Given the description of an element on the screen output the (x, y) to click on. 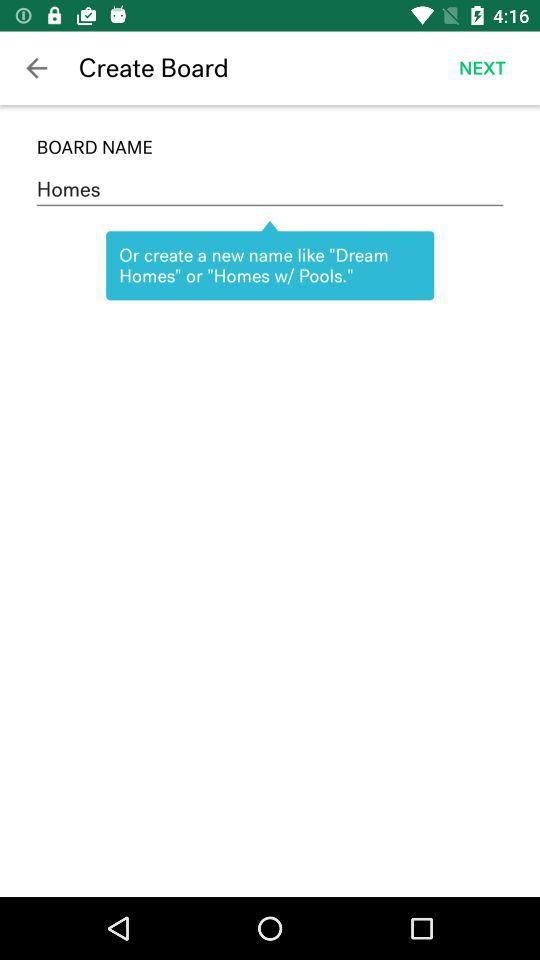
go back (36, 68)
